Given the description of an element on the screen output the (x, y) to click on. 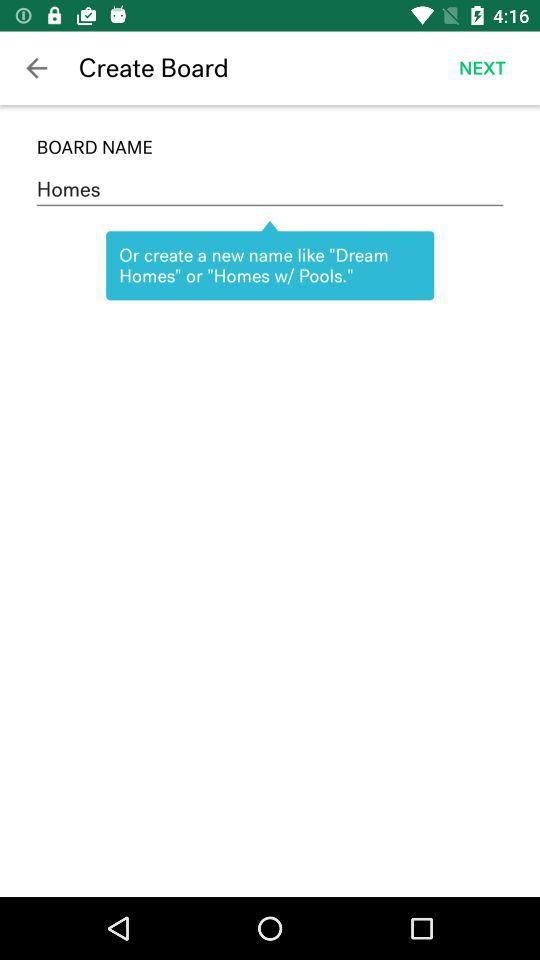
go back (36, 68)
